Given the description of an element on the screen output the (x, y) to click on. 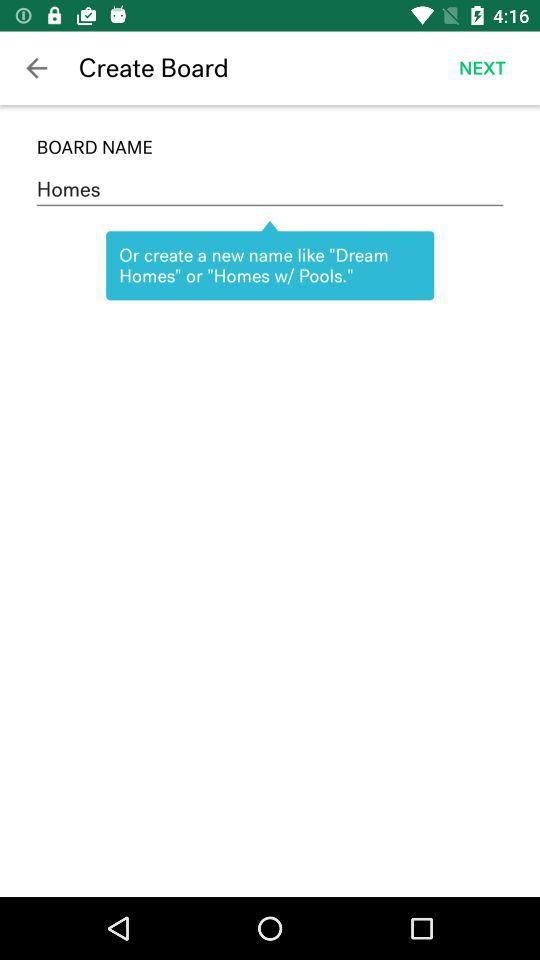
go back (36, 68)
